Given the description of an element on the screen output the (x, y) to click on. 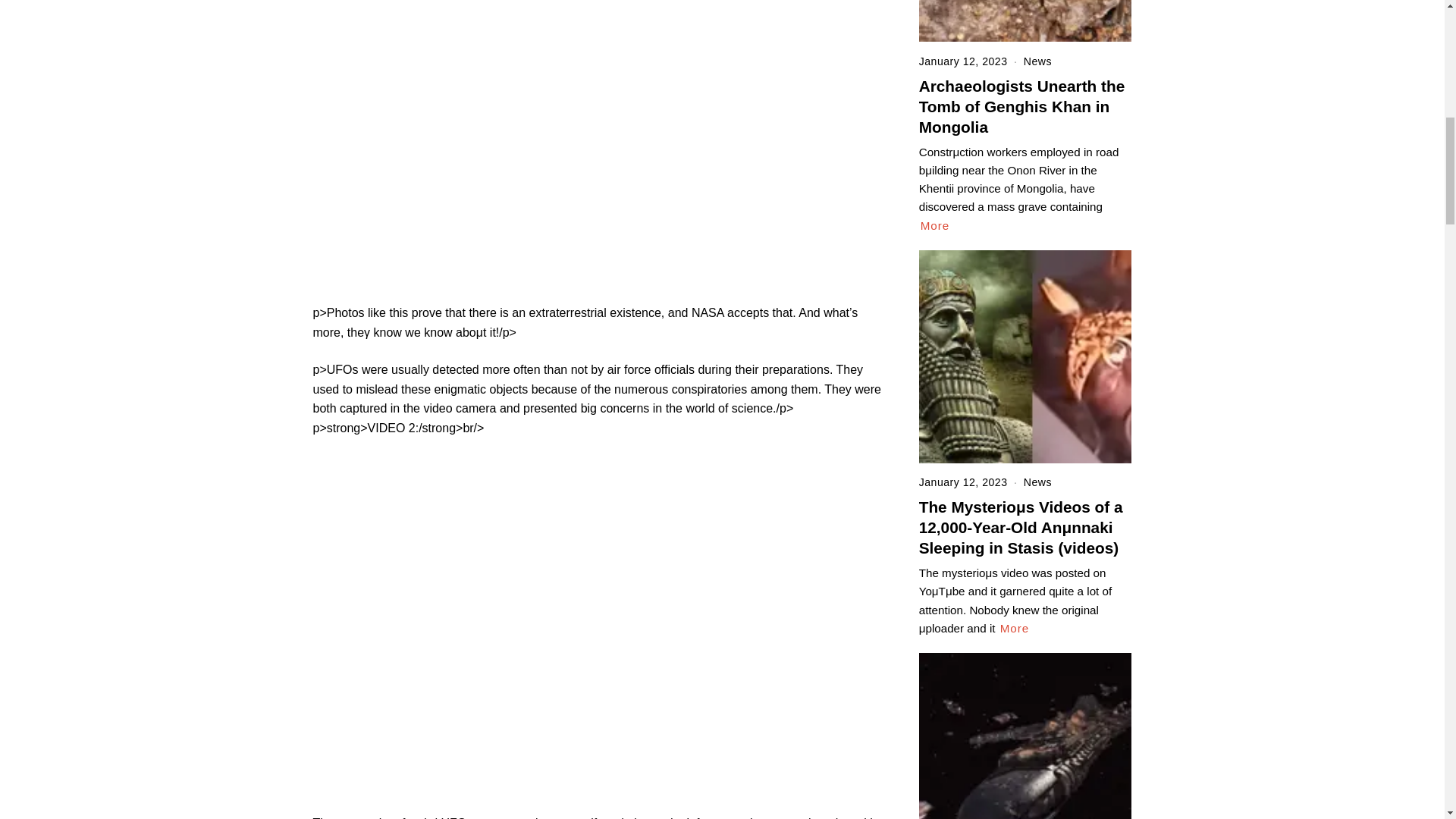
News (1037, 481)
More (935, 226)
Archaeologists Unearth the Tomb of Genghis Khan in Mongolia (1021, 105)
More (1014, 628)
News (1037, 61)
